Given the description of an element on the screen output the (x, y) to click on. 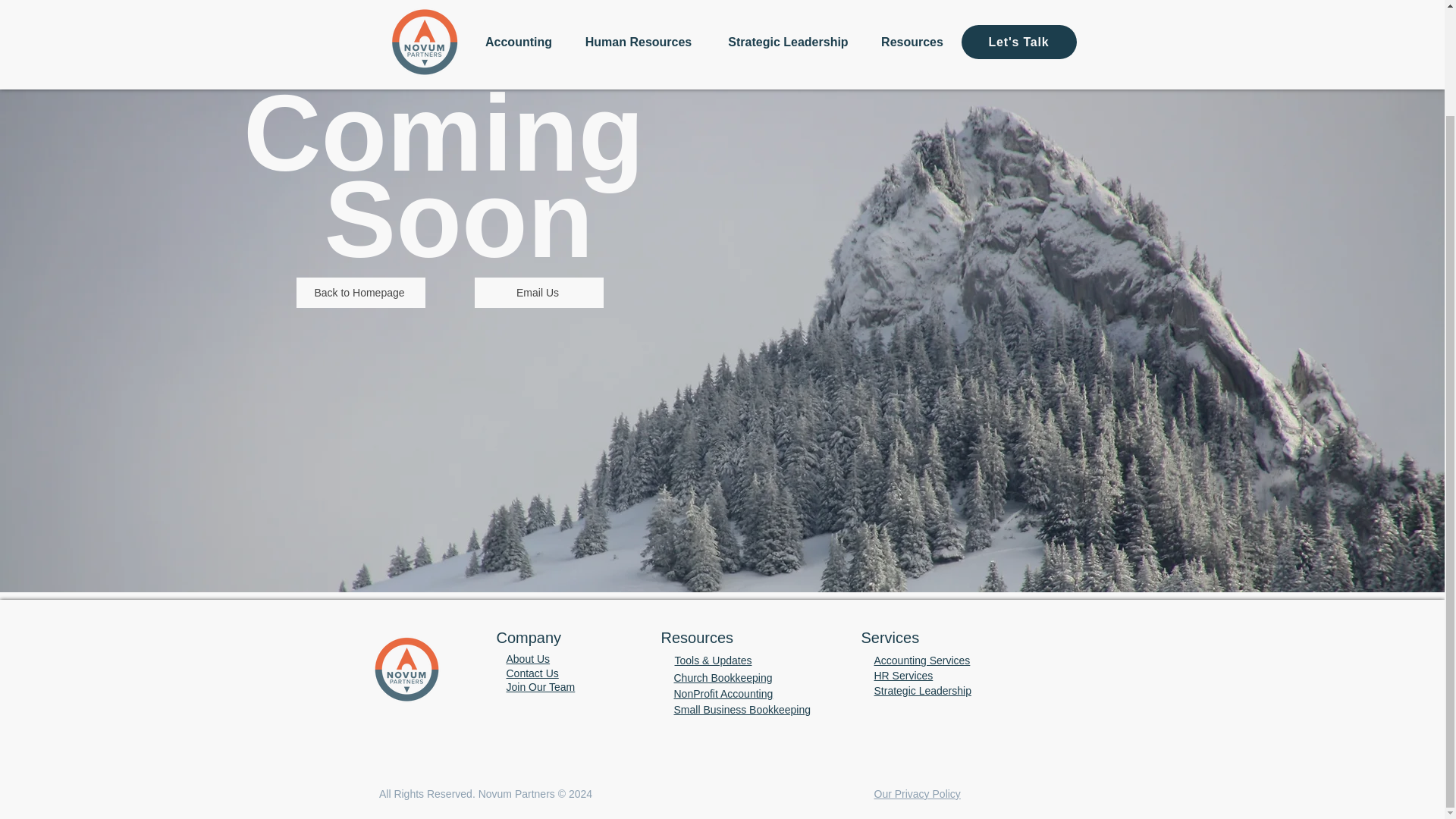
Contact Us (532, 673)
Services (890, 637)
Email Us (539, 292)
Company (528, 637)
Church Bookkeeping (721, 677)
Small Business Bookkeeping (741, 709)
Back to Homepage (361, 292)
NonProfit Accounting (722, 693)
About Us (528, 658)
Join Our Team (540, 686)
Strategic Leadership (922, 690)
Resources (697, 637)
Our Privacy Policy (916, 793)
Accounting Services (921, 660)
HR Services (903, 675)
